Given the description of an element on the screen output the (x, y) to click on. 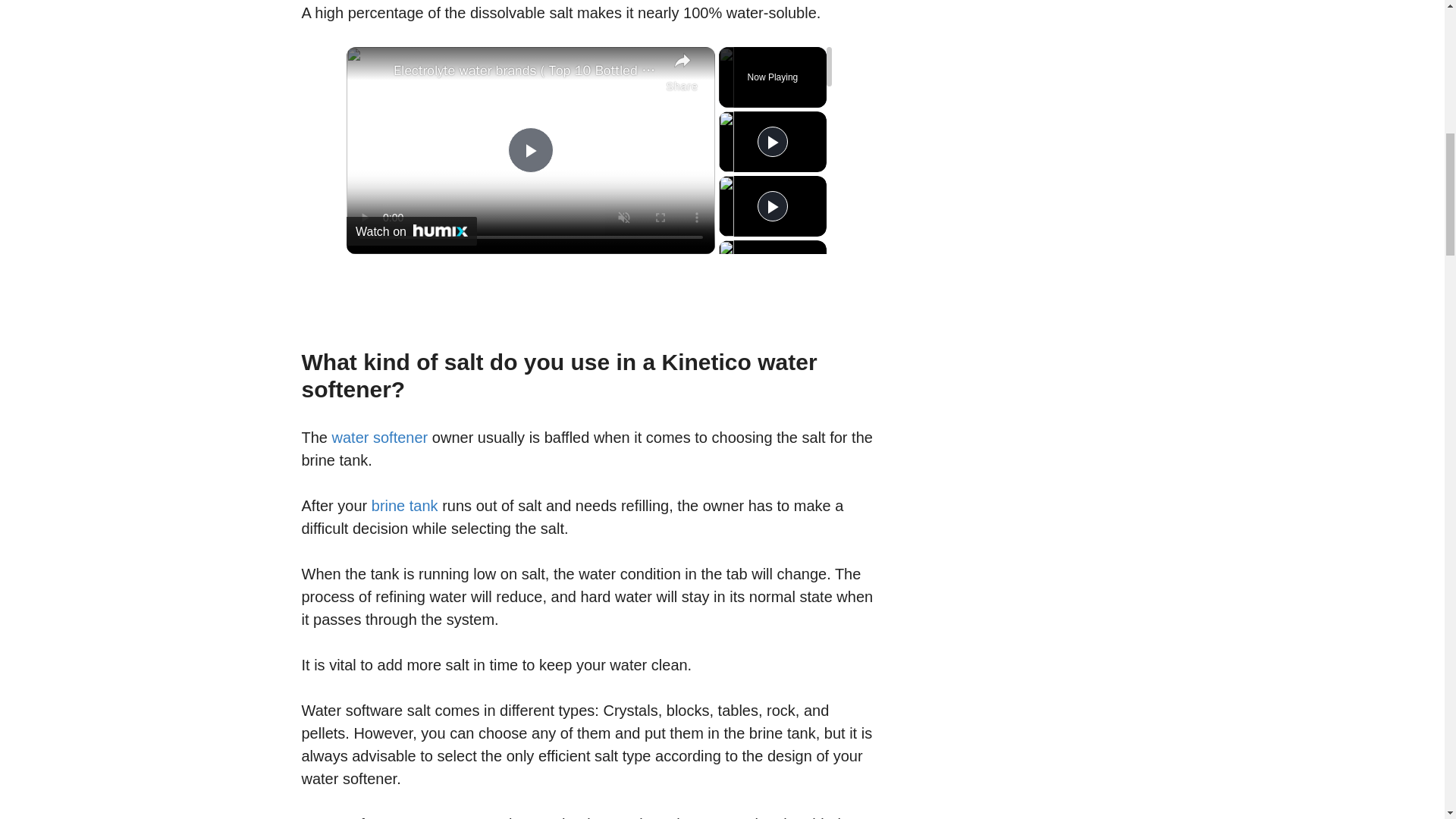
Now Playing (772, 76)
Play (772, 335)
Play (772, 205)
Play (772, 141)
Play (772, 269)
